Given the description of an element on the screen output the (x, y) to click on. 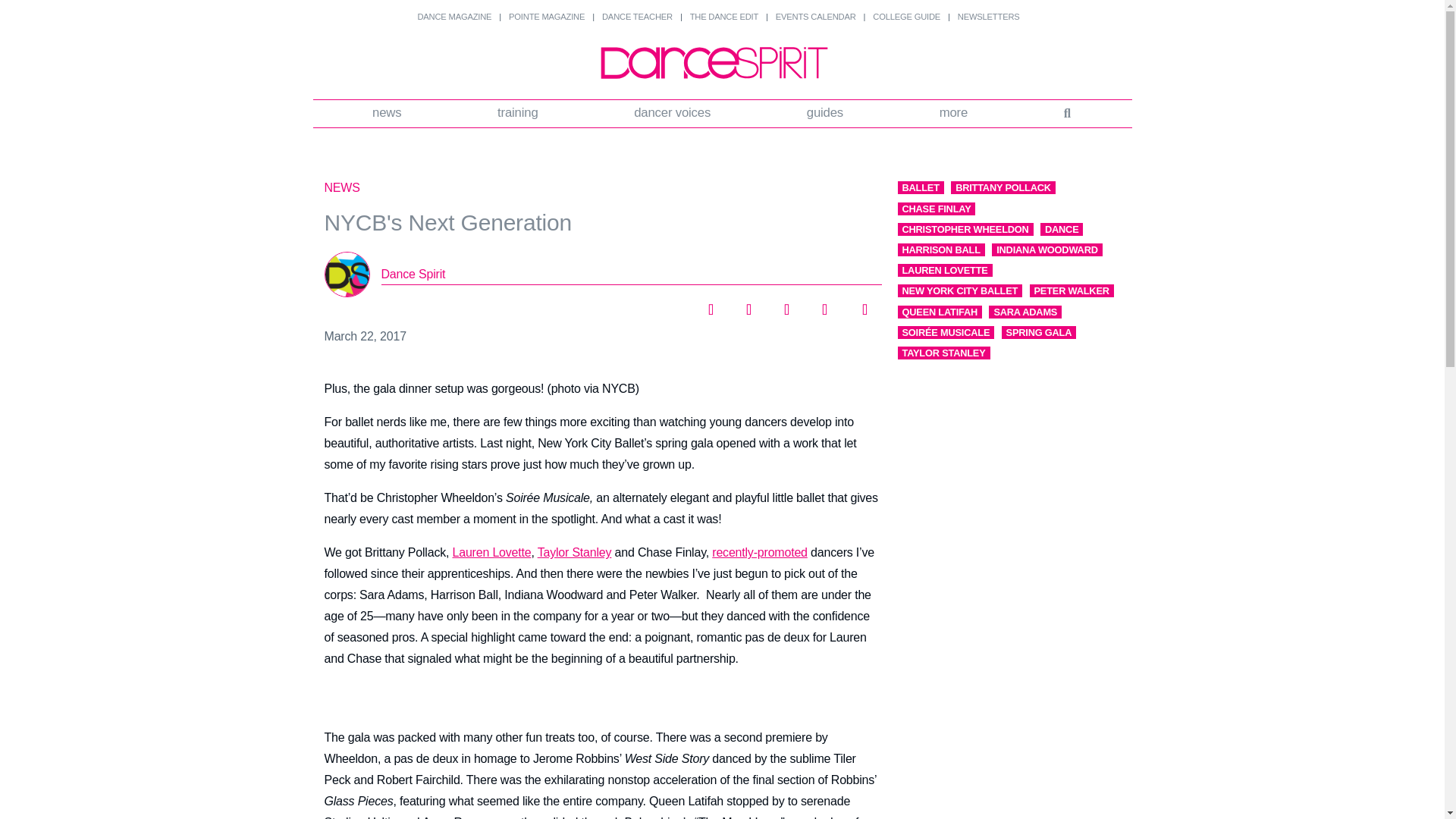
news (387, 113)
DANCE TEACHER (637, 16)
Share on Facebook (710, 304)
Share on LinkedIn (786, 304)
guides (823, 113)
DANCE MAGAZINE (454, 16)
more (953, 113)
Share by Email (861, 304)
EVENTS CALENDAR (816, 16)
POINTE MAGAZINE (546, 16)
